Given the description of an element on the screen output the (x, y) to click on. 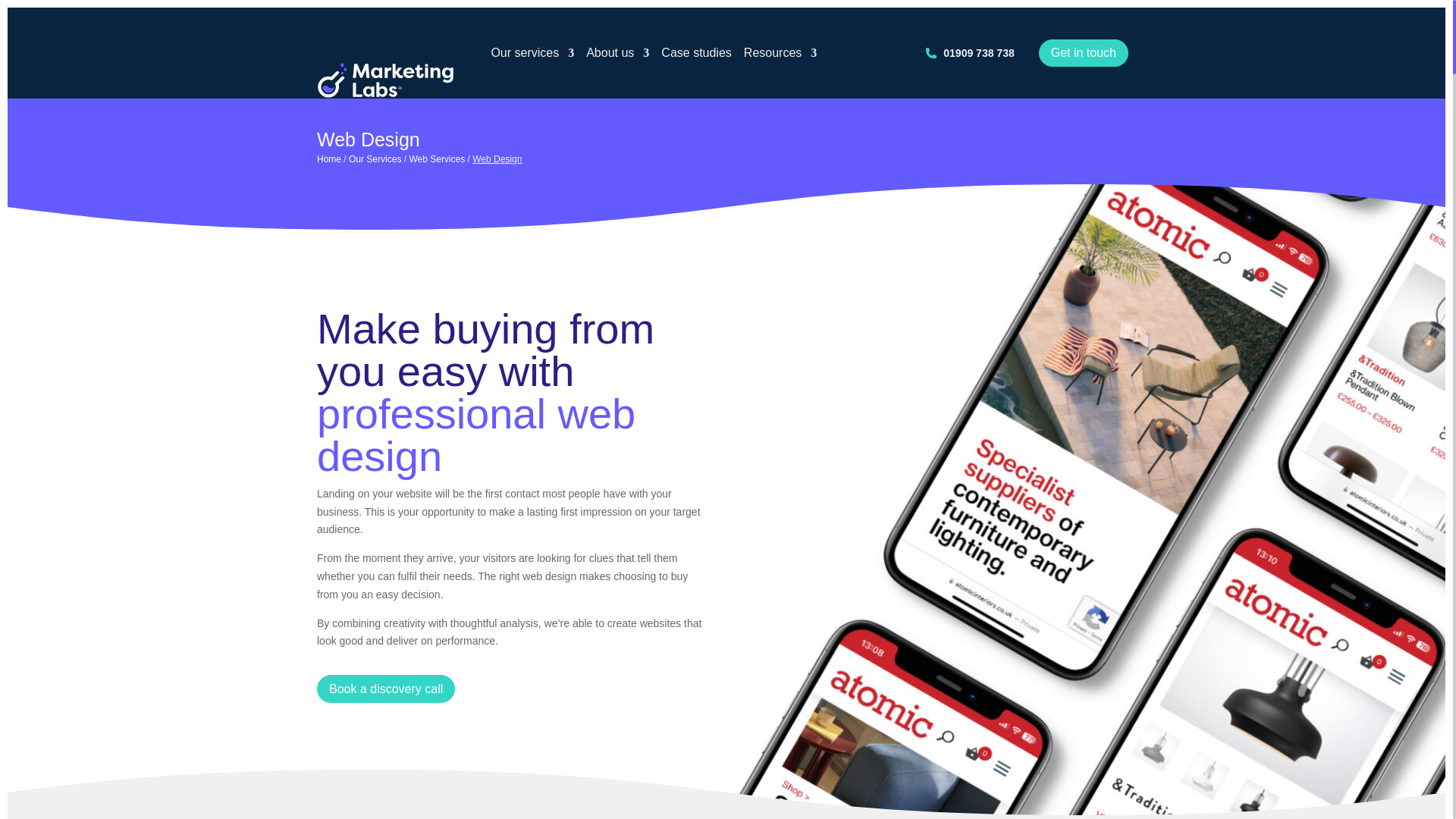
Our services (531, 52)
About us (617, 52)
ML LOGO WHITE-54 (385, 80)
